Given the description of an element on the screen output the (x, y) to click on. 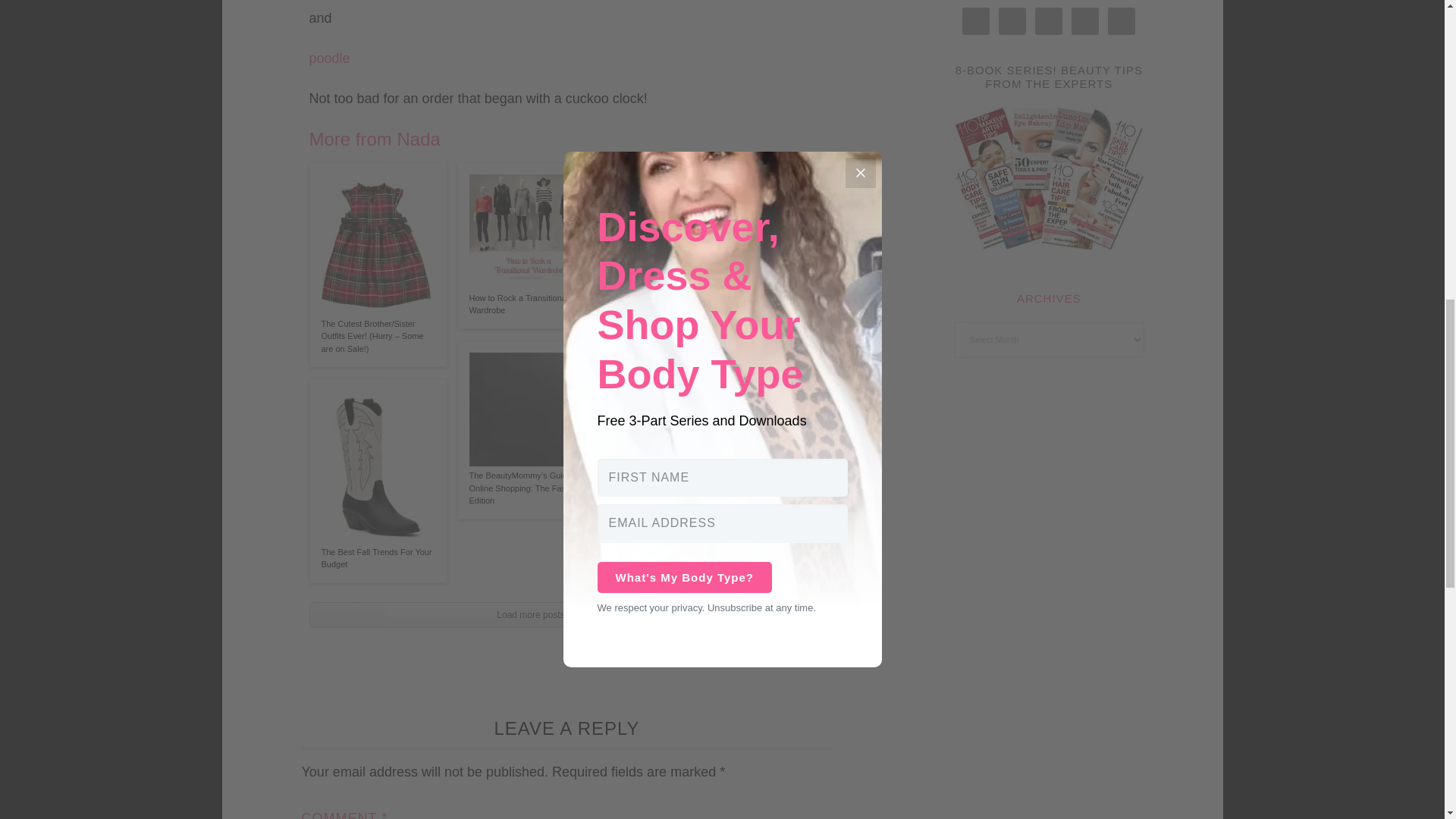
8-BOOK SERIES! BEAUTY TIPS FROM THE EXPERTS (1048, 76)
The Best Fall Trends For Your Budget (378, 565)
How to Rock a Transitional Wardrobe (525, 303)
Load more posts (530, 614)
poodle (329, 57)
The Annual Holiday PJ Hunt (673, 506)
Sovrn (741, 646)
